Given the description of an element on the screen output the (x, y) to click on. 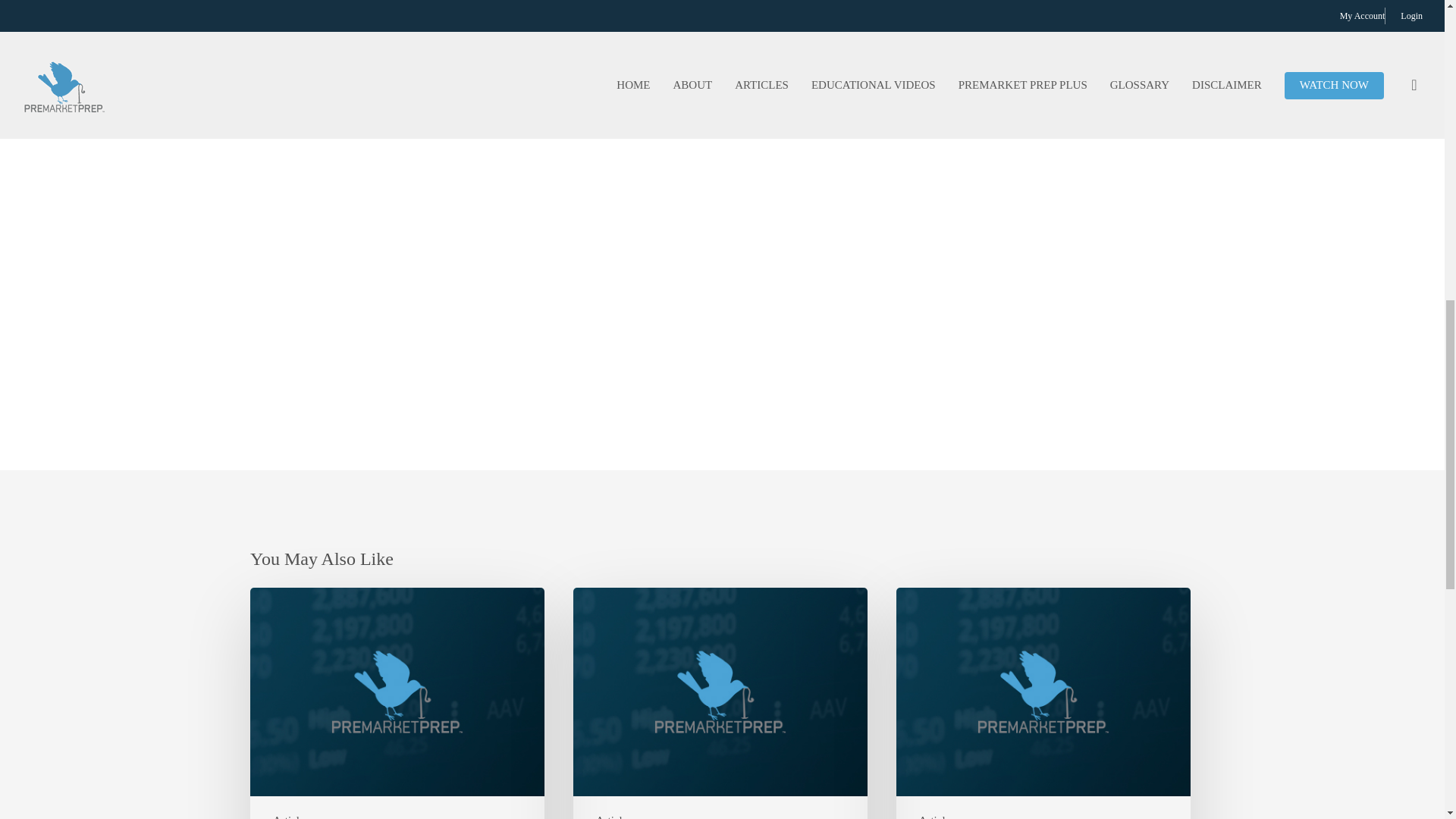
Articles (936, 815)
Articles (613, 815)
Articles (290, 815)
